Given the description of an element on the screen output the (x, y) to click on. 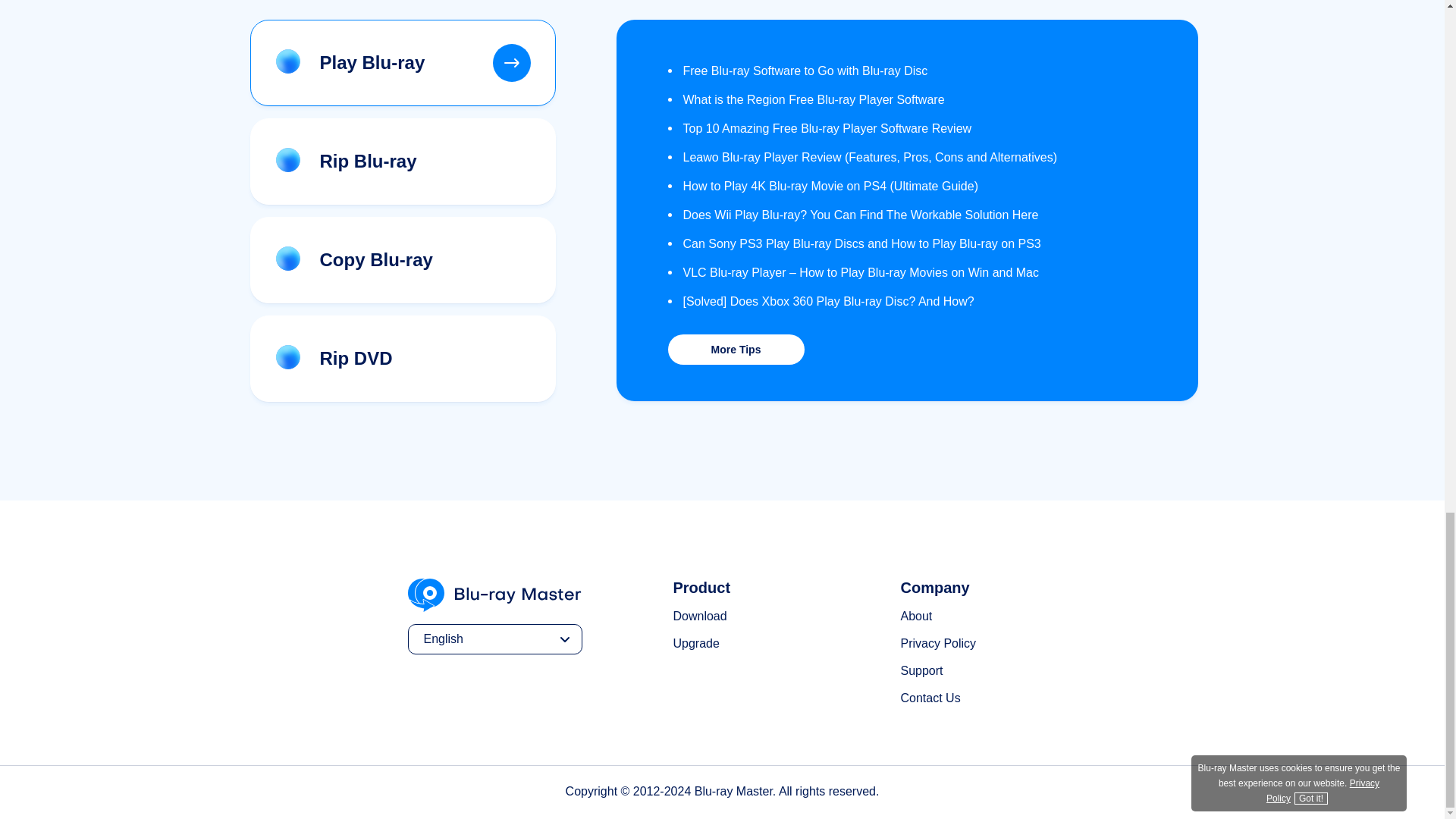
What is the Region Free Blu-ray Player Software (804, 99)
Top 10 Amazing Free Blu-ray Player Software Review (818, 128)
Free Blu-ray Software to Go with Blu-ray Disc (796, 70)
